Given the description of an element on the screen output the (x, y) to click on. 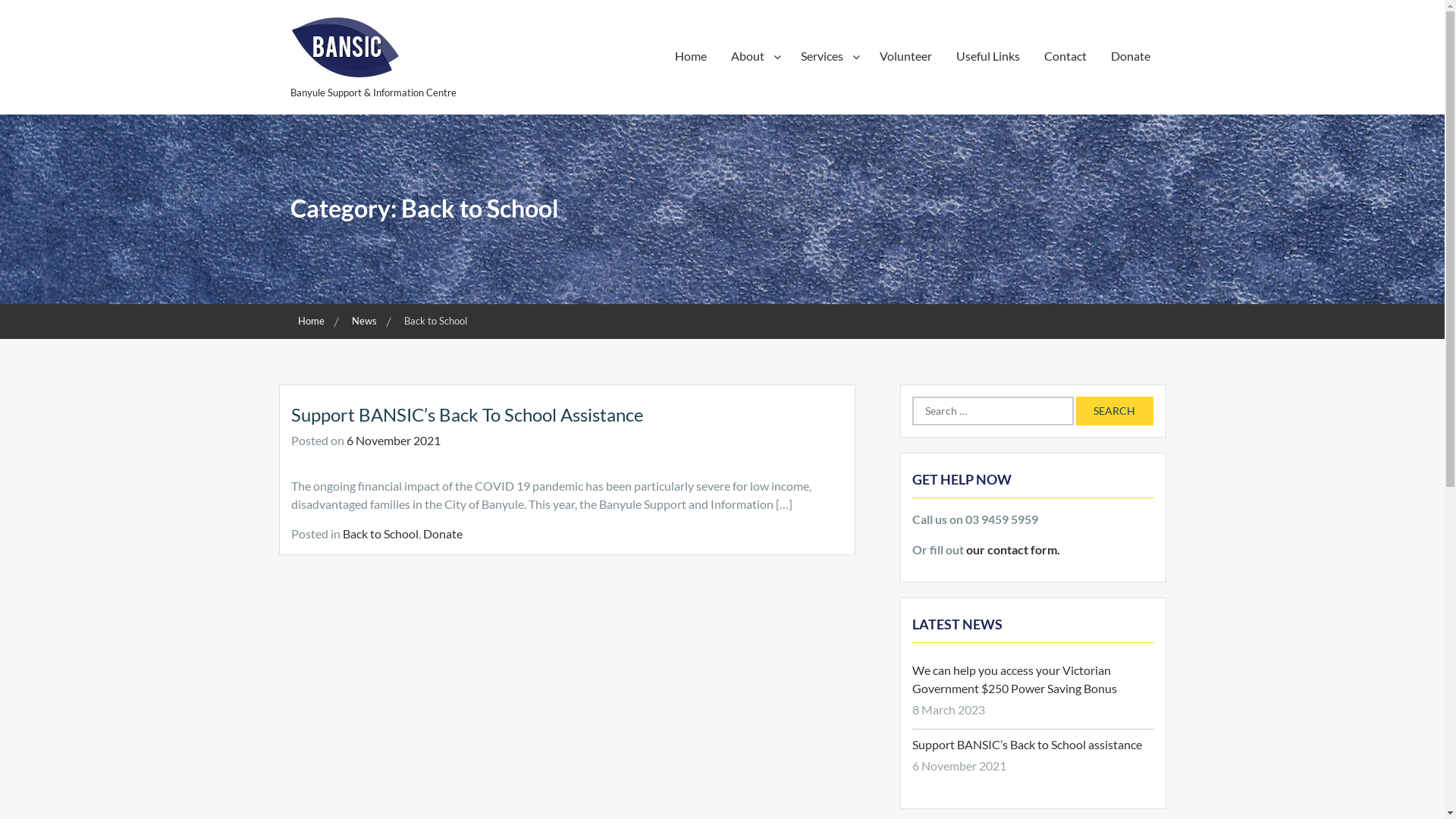
Search Element type: text (1113, 410)
our contact form. Element type: text (1013, 549)
6 November 2021 Element type: text (392, 440)
Donate Element type: text (1129, 55)
Contact Element type: text (1064, 55)
Donate Element type: text (442, 533)
Home Element type: text (312, 320)
News Element type: text (365, 320)
Volunteer Element type: text (905, 55)
Home Element type: text (690, 55)
Back to School Element type: text (380, 533)
Services Element type: text (827, 55)
About Element type: text (753, 55)
Useful Links Element type: text (987, 55)
